Given the description of an element on the screen output the (x, y) to click on. 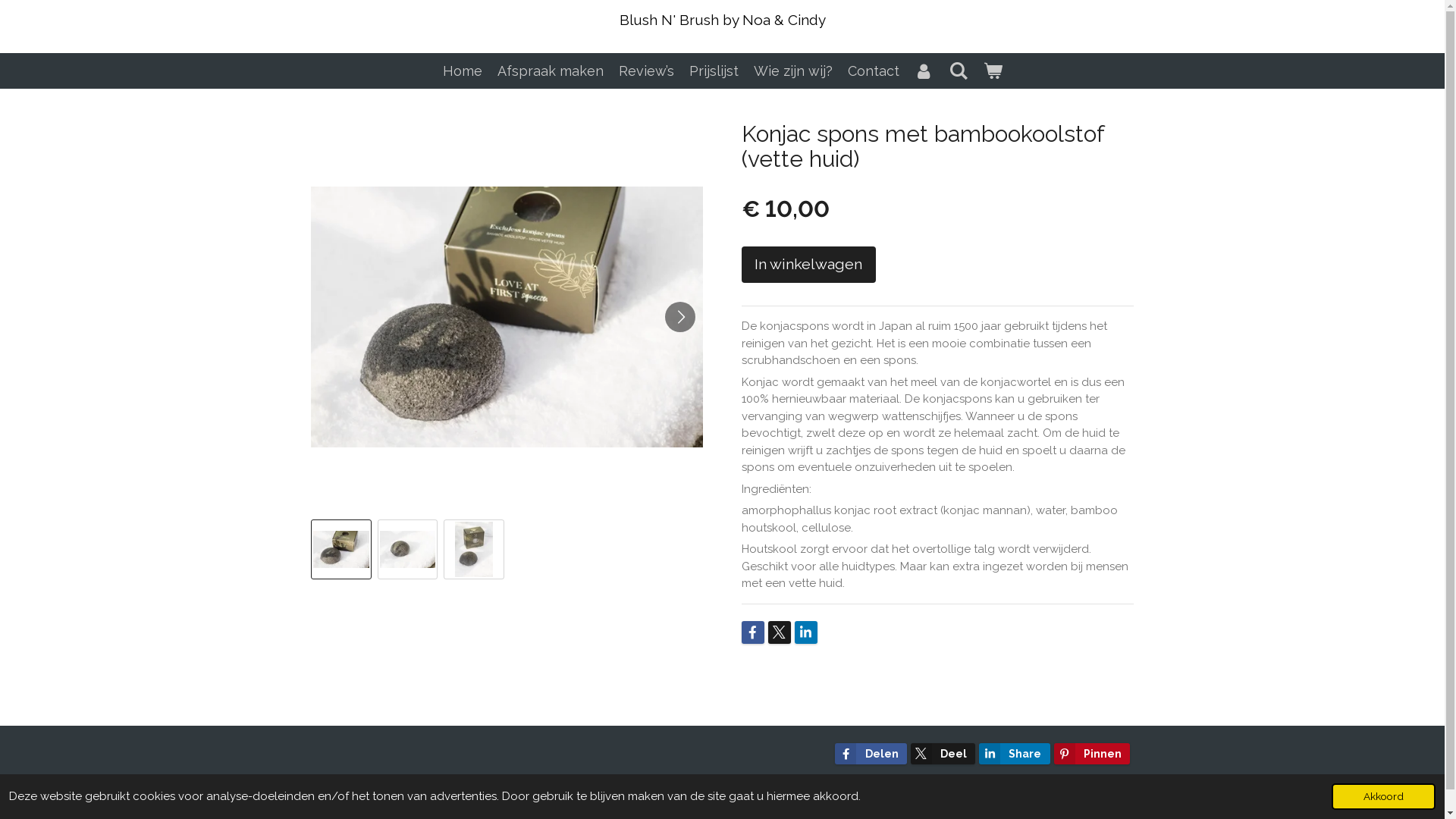
Deel Element type: text (942, 753)
Share Element type: text (1014, 753)
Delen Element type: text (870, 753)
Blush N' Brush by Noa & Cindy Element type: text (721, 15)
Algemene Voorwaarden Element type: text (370, 786)
Zoeken Element type: hover (958, 70)
Bekijk winkelwagen Element type: hover (992, 70)
Account Element type: hover (923, 70)
Afspraak maken Element type: text (550, 70)
Wie zijn wij? Element type: text (793, 70)
Home Element type: text (462, 70)
Prijslijst Element type: text (713, 70)
Contact Element type: text (873, 70)
Pinnen Element type: text (1091, 753)
Akkoord Element type: text (1383, 796)
In winkelwagen Element type: text (808, 264)
